Given the description of an element on the screen output the (x, y) to click on. 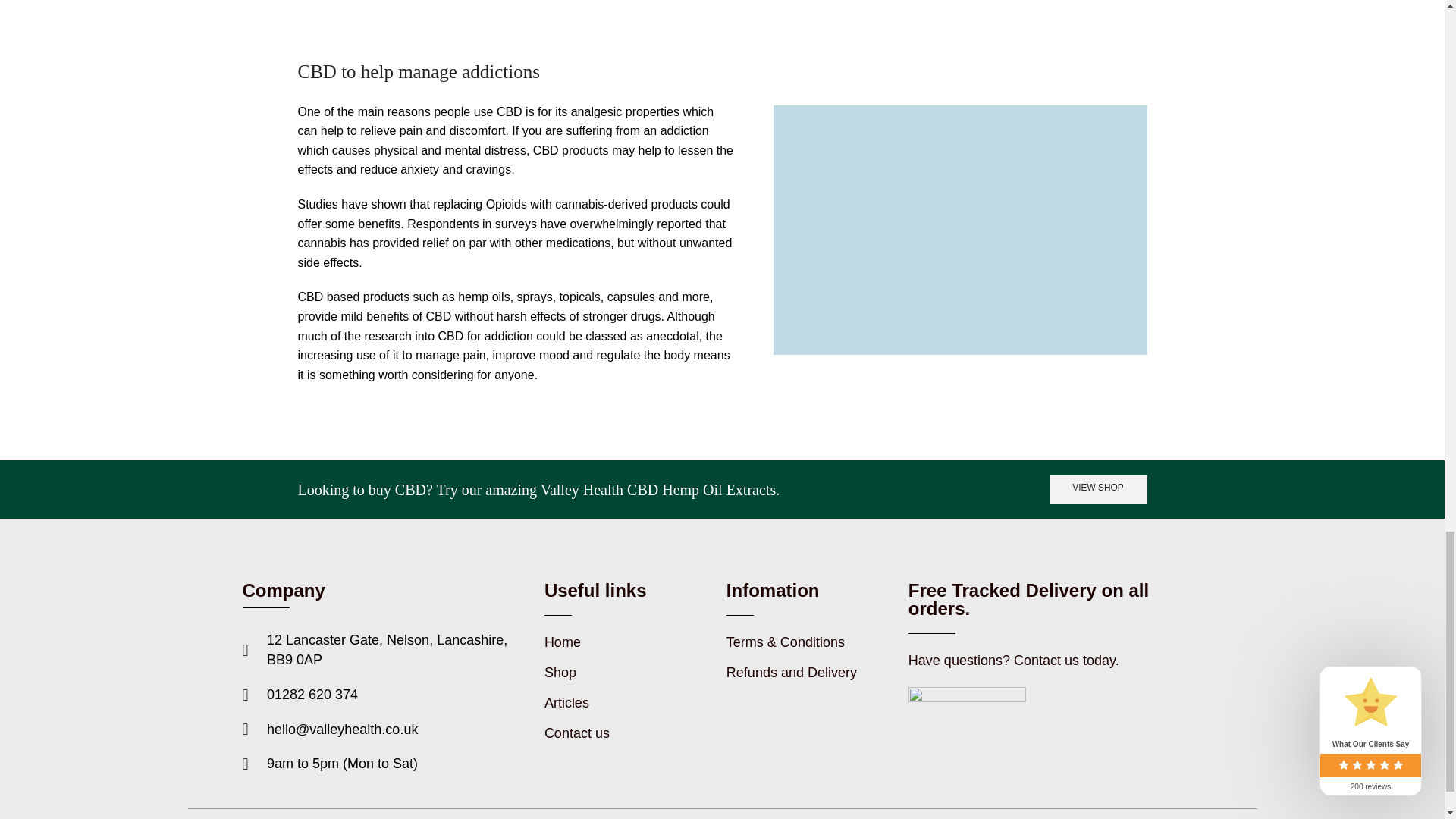
Refunds and Delivery (805, 672)
Have questions? Contact us today. (1048, 660)
VIEW SHOP (1098, 489)
Articles (623, 702)
Shop (623, 672)
Home (623, 642)
Contact us (623, 733)
